Given the description of an element on the screen output the (x, y) to click on. 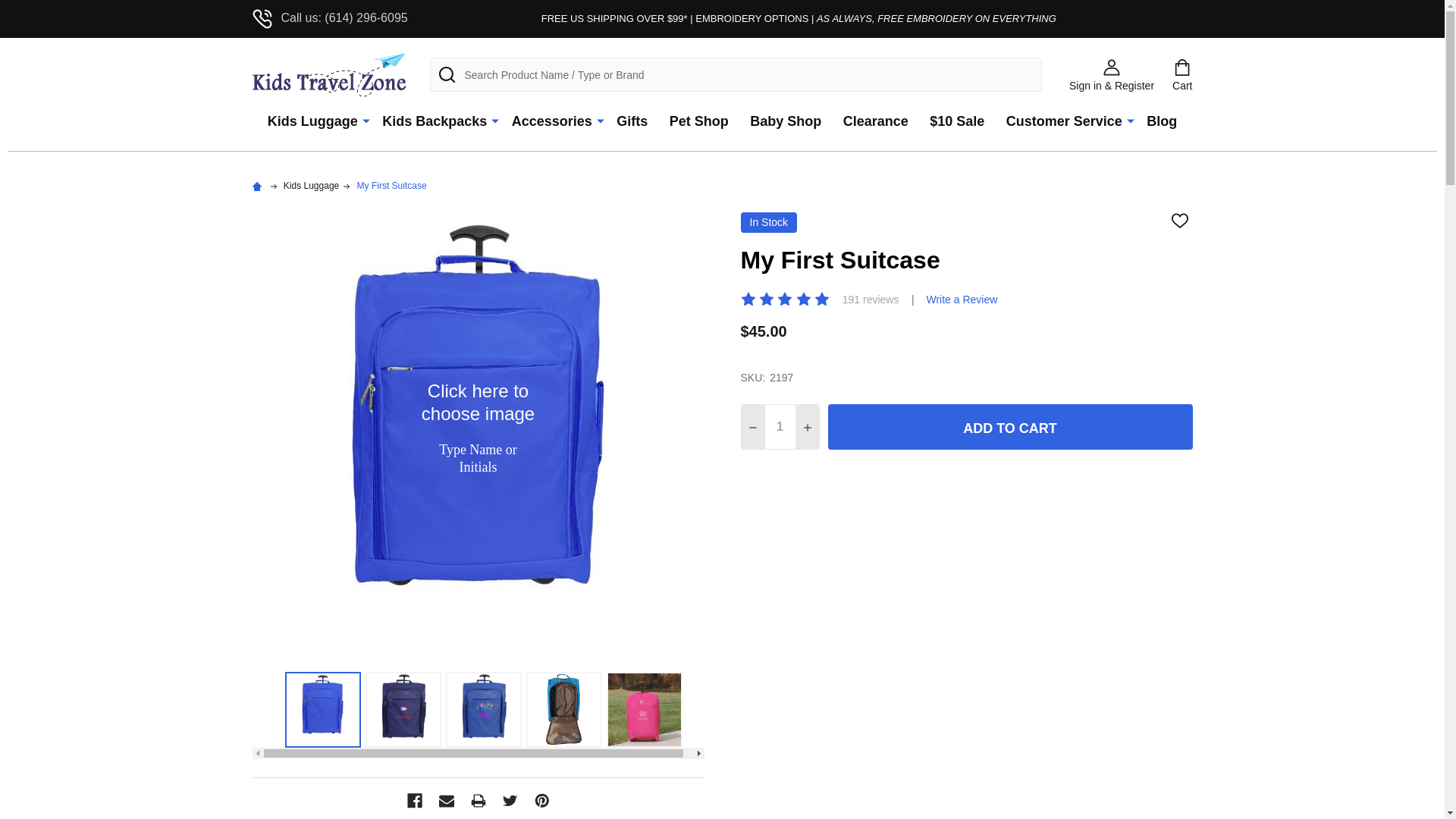
EMBROIDERY OPTIONS (751, 18)
Kids Luggage (311, 185)
Kids Travel Zone (330, 74)
My First Suitcase (391, 185)
Baby Shop (785, 121)
Kids Backpacks (430, 121)
Clearance (875, 121)
Kids Luggage (309, 121)
Home (257, 185)
Gifts (631, 121)
